Given the description of an element on the screen output the (x, y) to click on. 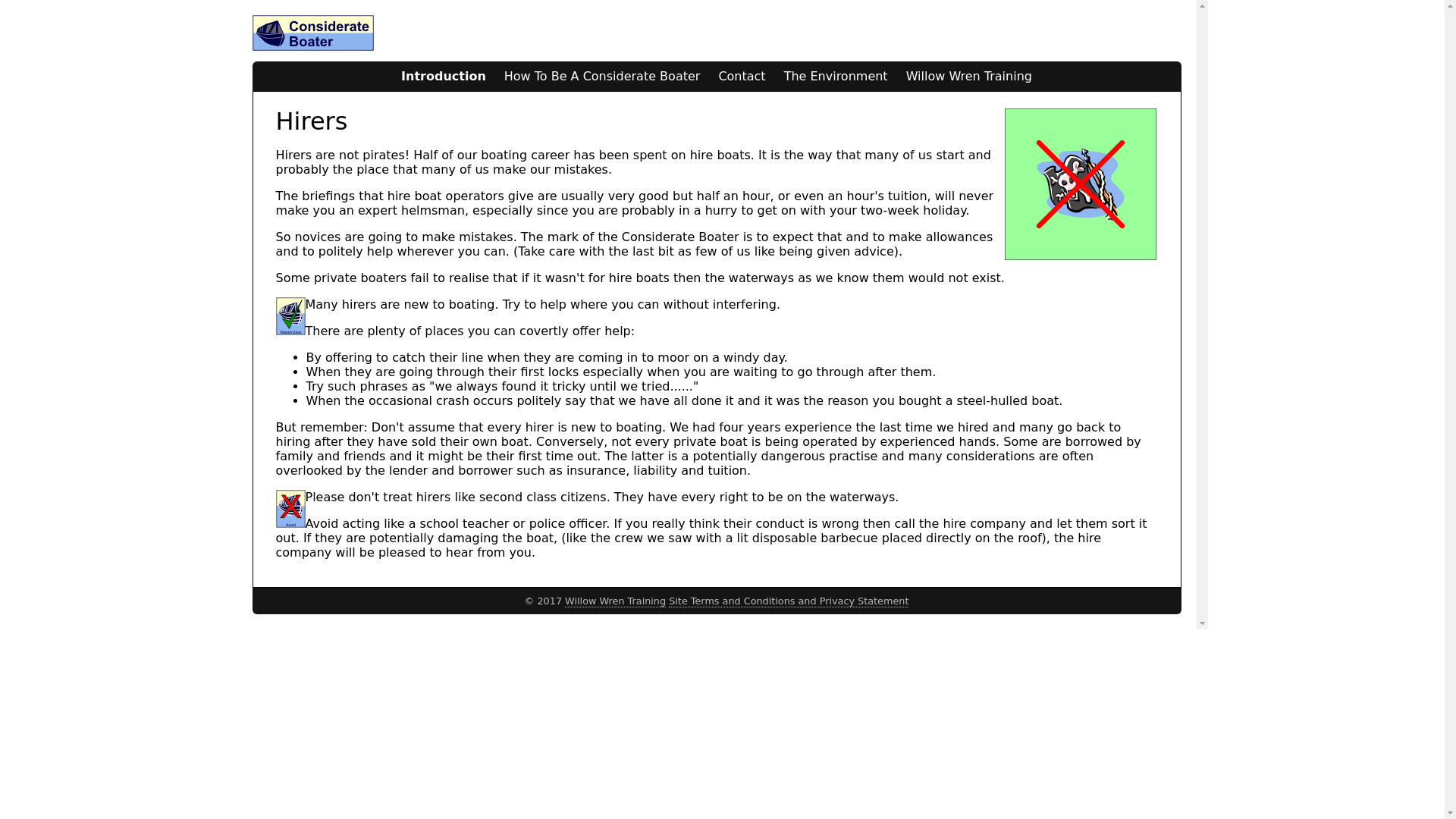
Contact (741, 75)
Site Terms and Conditions and Privacy Statement (788, 601)
Introduction (443, 75)
How To Be A Considerate Boater (602, 75)
Willow Wren Training (968, 75)
The Environment (835, 75)
Willow Wren Training (614, 601)
